Given the description of an element on the screen output the (x, y) to click on. 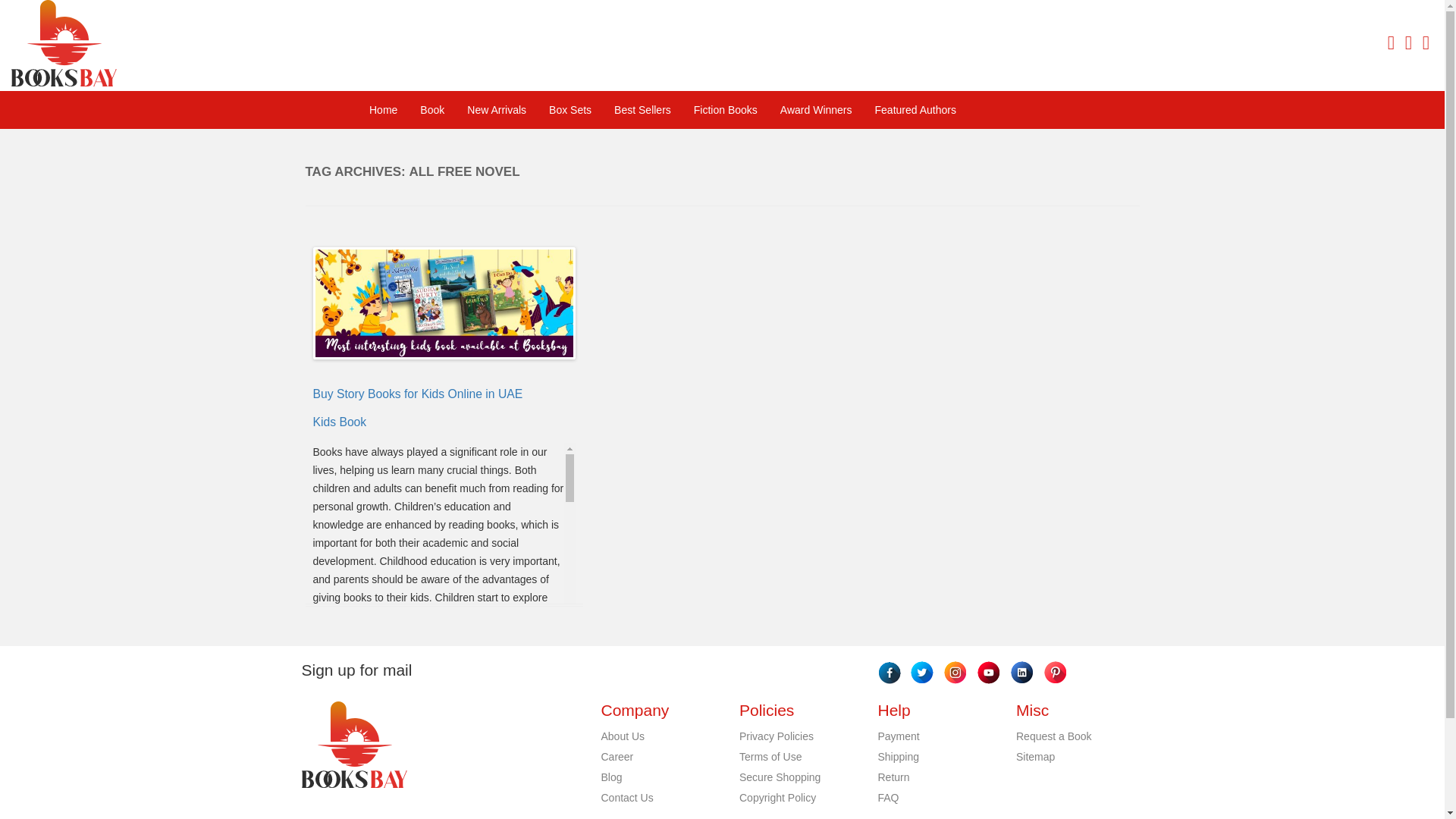
Buy Story Books for Kids Online in UAE (417, 393)
Best Sellers (642, 109)
Fiction Books (725, 109)
Book (432, 109)
Home (383, 109)
Kids Book (339, 421)
Box Sets (569, 109)
Featured Authors (915, 109)
Award Winners (815, 109)
New Arrivals (496, 109)
